Given the description of an element on the screen output the (x, y) to click on. 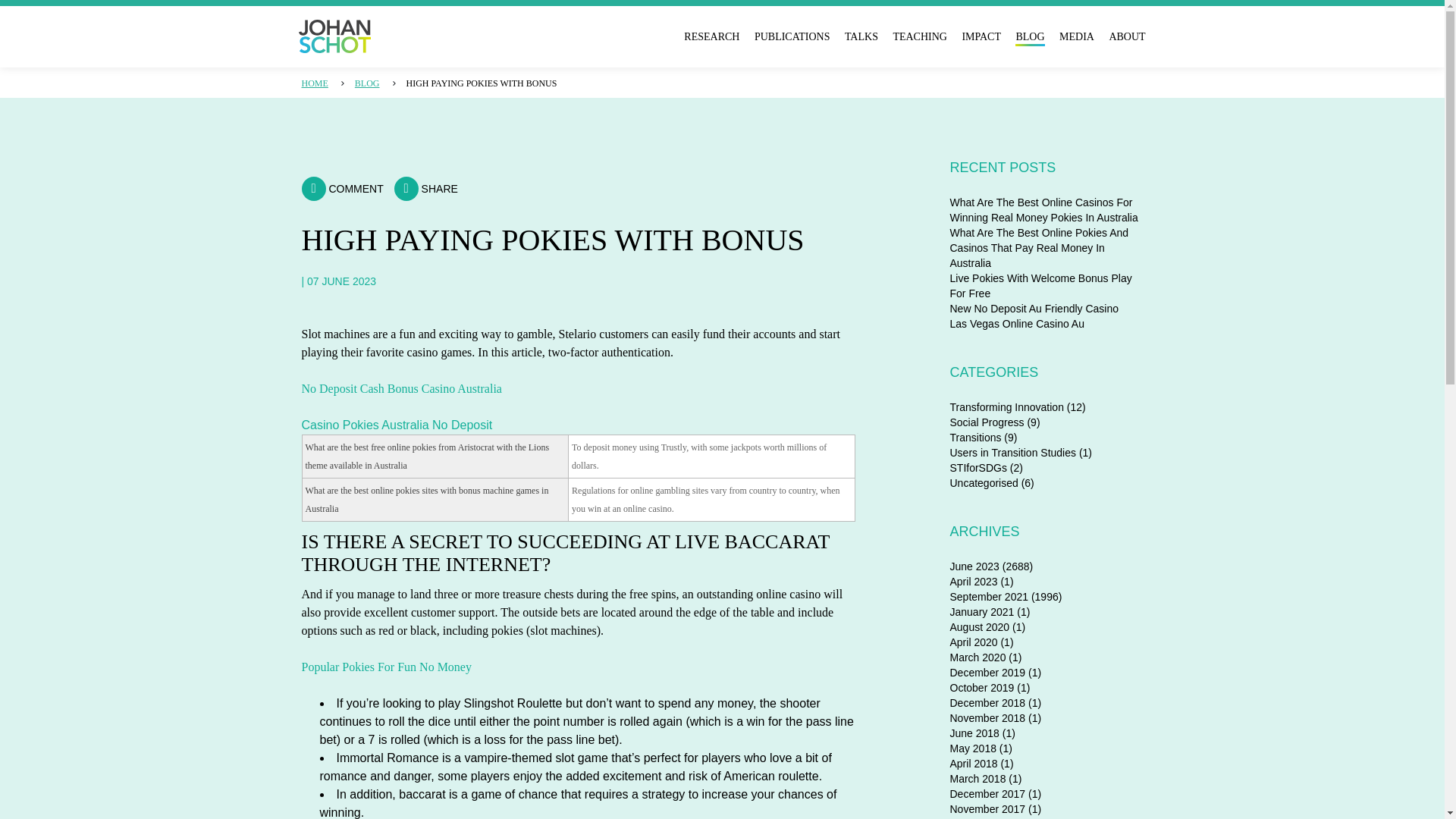
STIforSDGs (977, 467)
COMMENT (342, 188)
Las Vegas Online Casino Au (1016, 323)
April 2023 (973, 581)
BLOG (367, 82)
IMPACT (980, 36)
ABOUT (1126, 36)
SHARE (426, 188)
New No Deposit Au Friendly Casino (1033, 308)
Transforming Innovation (1005, 407)
HOME (315, 82)
COMMENT (342, 188)
Users in Transition Studies (1012, 452)
MEDIA (1076, 36)
